Given the description of an element on the screen output the (x, y) to click on. 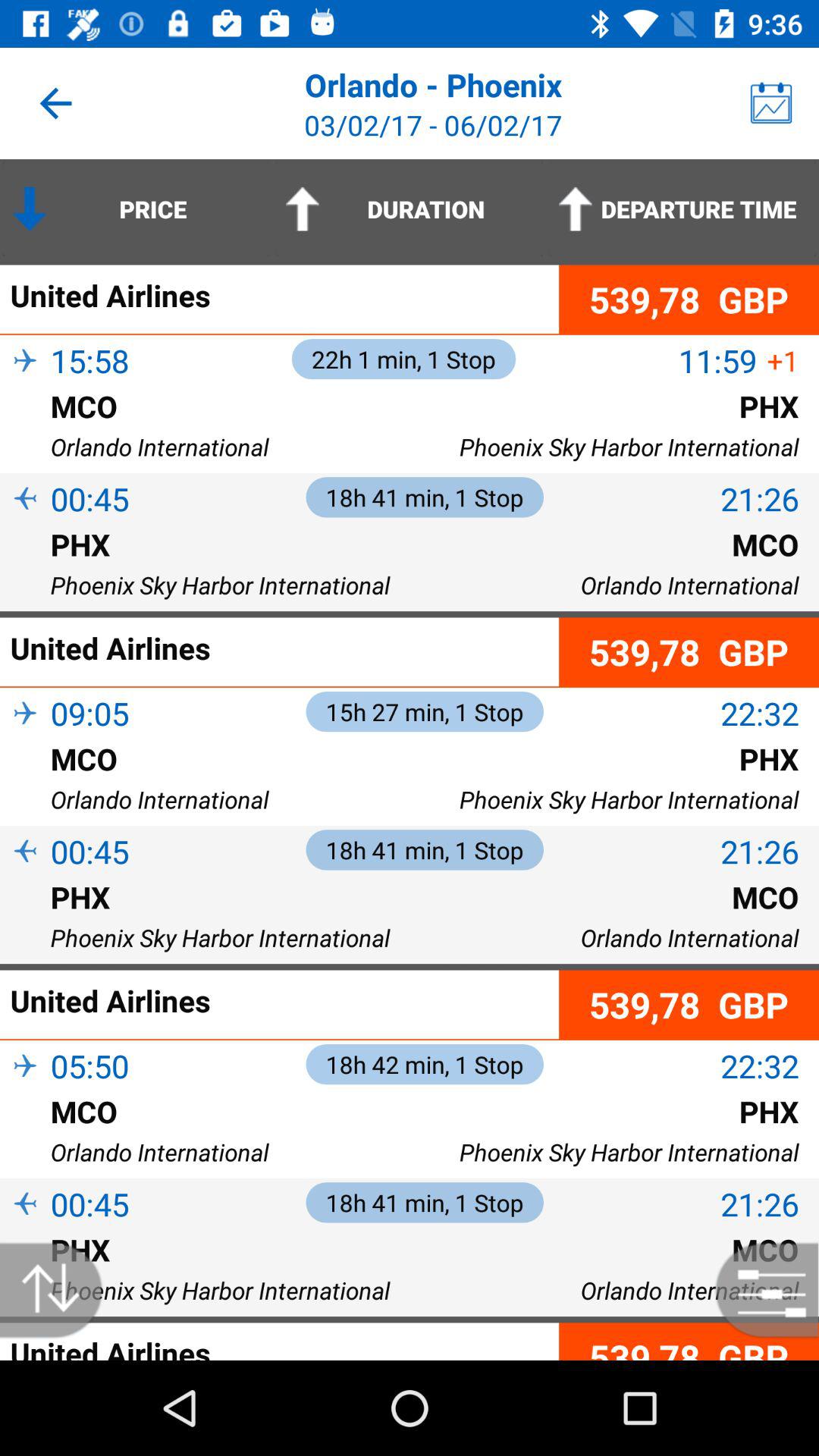
reorder from high to low (59, 1290)
